Given the description of an element on the screen output the (x, y) to click on. 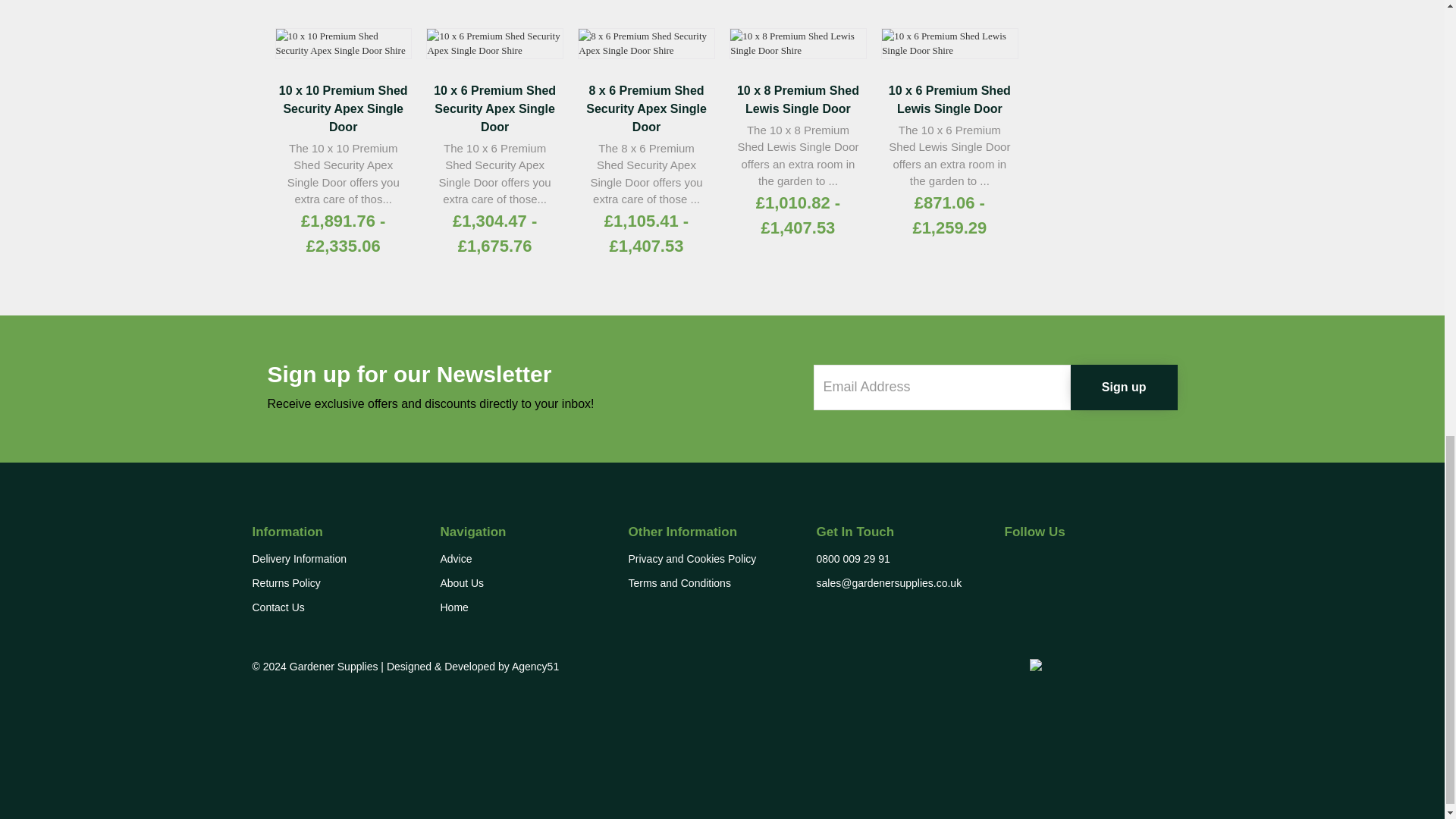
Sign up (1123, 387)
8 x 6 Premium Shed Security Apex Single Door  Shire (646, 42)
10 x 6 Premium Shed Security Apex Single Door  Shire (494, 42)
10 x 6 Premium Shed Lewis Single Door  Shire (948, 42)
10 x 8 Premium Shed Lewis Single Door  Shire (797, 42)
10 x 10 Premium Shed Security Apex Single Door  Shire (342, 42)
